Given the description of an element on the screen output the (x, y) to click on. 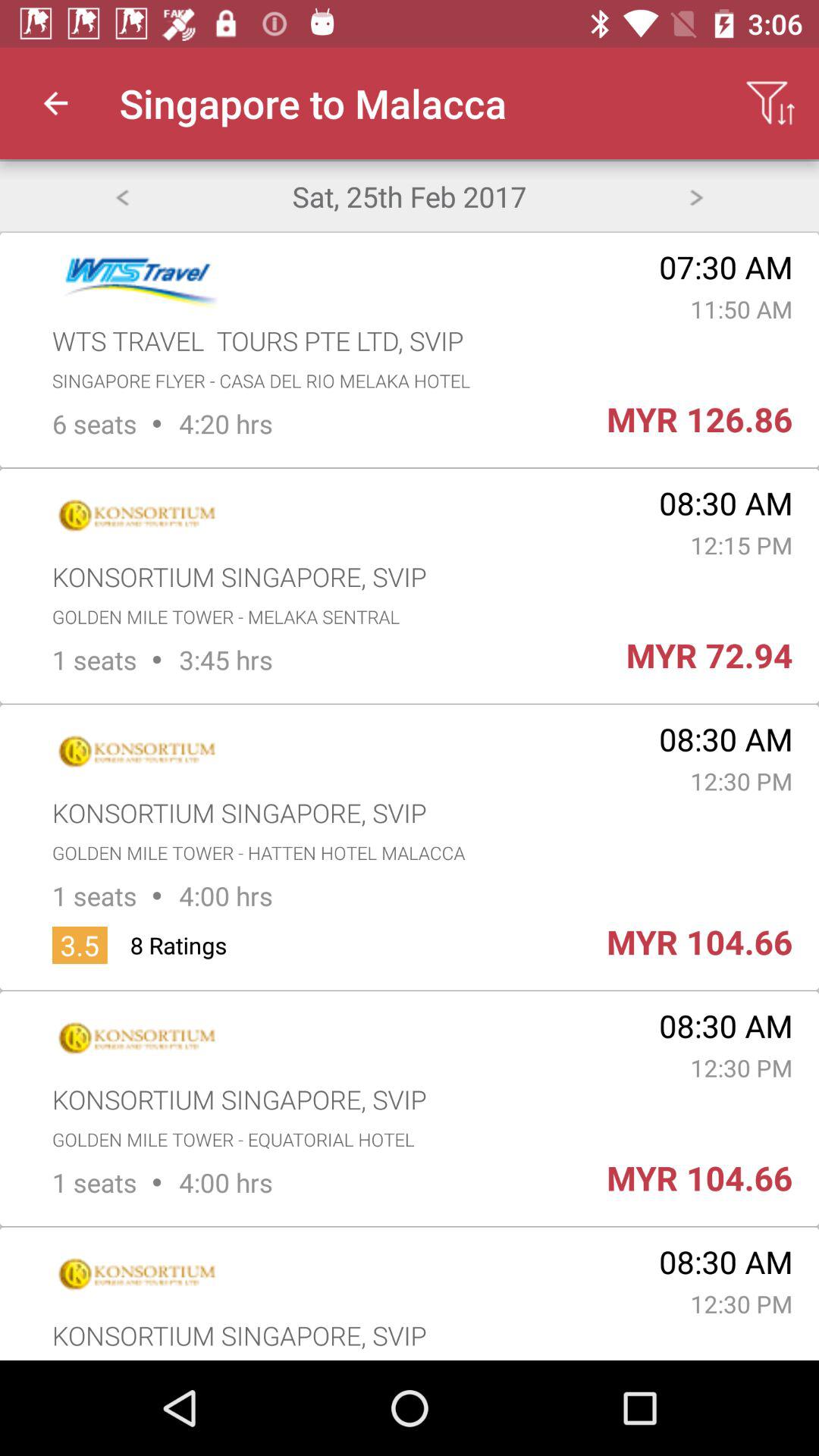
return to previous page (121, 196)
